Given the description of an element on the screen output the (x, y) to click on. 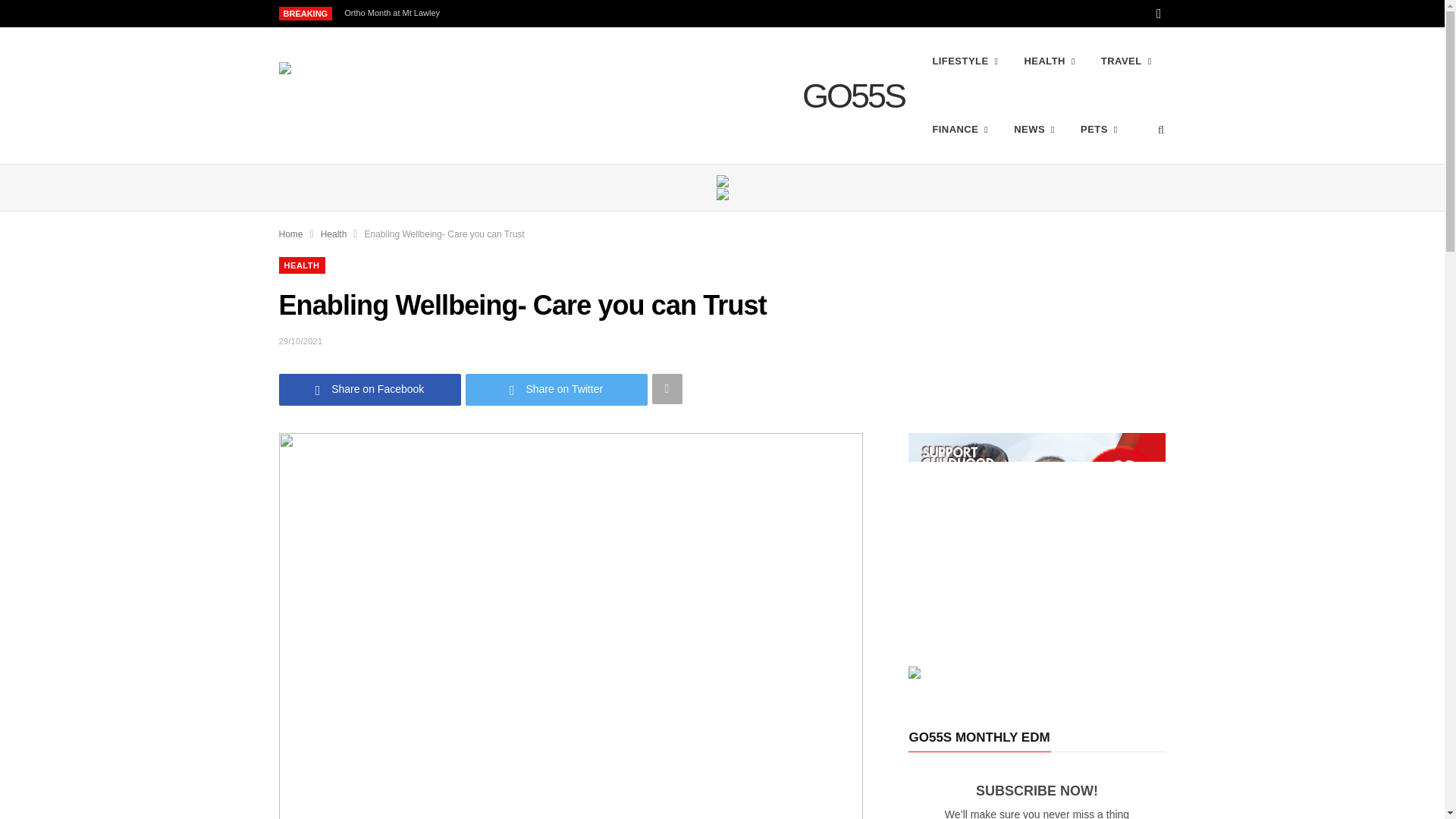
LIFESTYLE (964, 61)
Ortho Month at Mt Lawley (394, 12)
Go55s (847, 96)
Ortho Month at Mt Lawley (394, 12)
HEALTH (1048, 61)
